Given the description of an element on the screen output the (x, y) to click on. 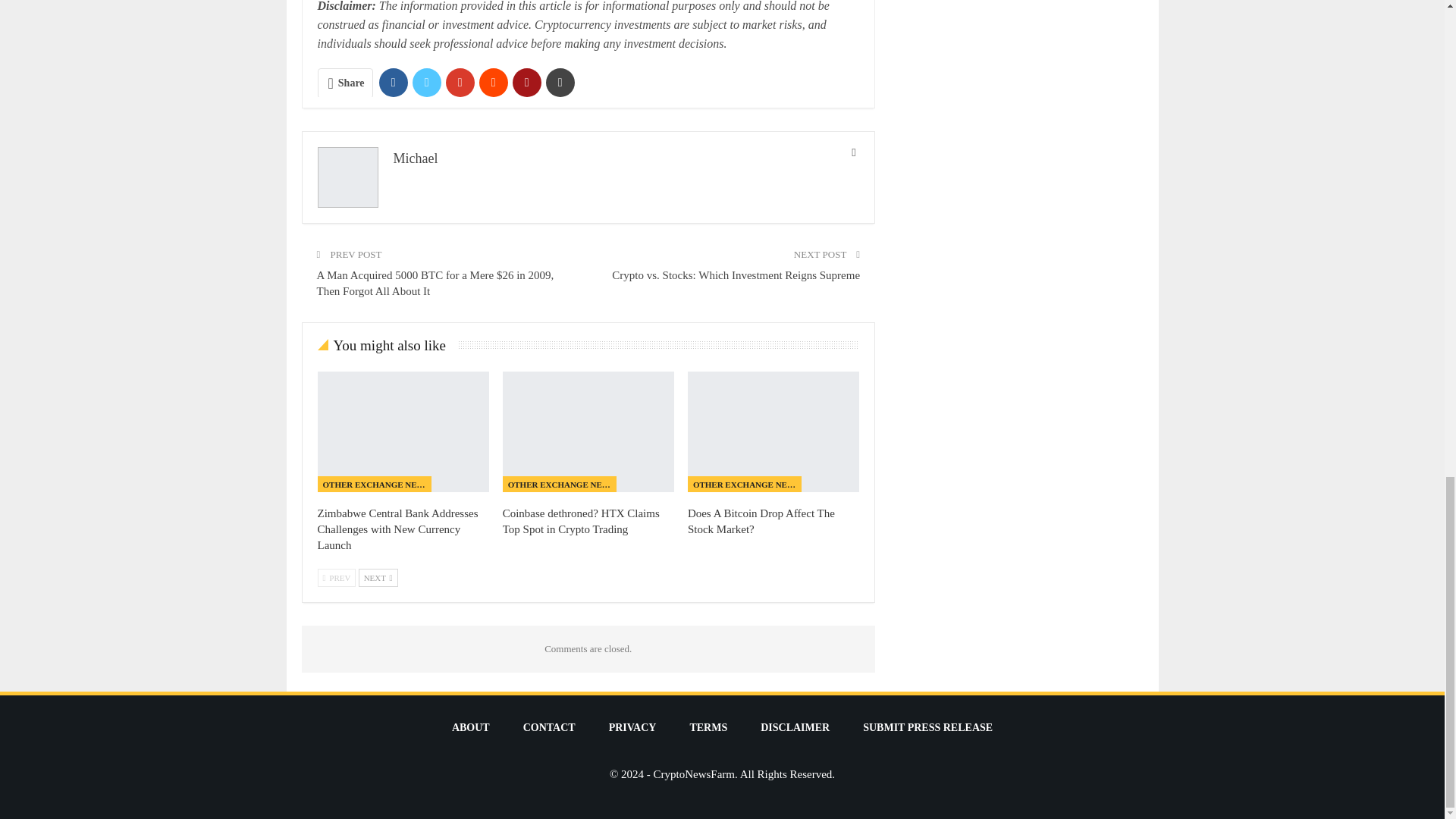
Does A Bitcoin Drop Affect The Stock Market? (760, 520)
Coinbase dethroned? HTX Claims Top Spot in Crypto Trading (580, 520)
Coinbase dethroned? HTX Claims Top Spot in Crypto Trading (588, 431)
Does A Bitcoin Drop Affect The Stock Market? (773, 431)
